Given the description of an element on the screen output the (x, y) to click on. 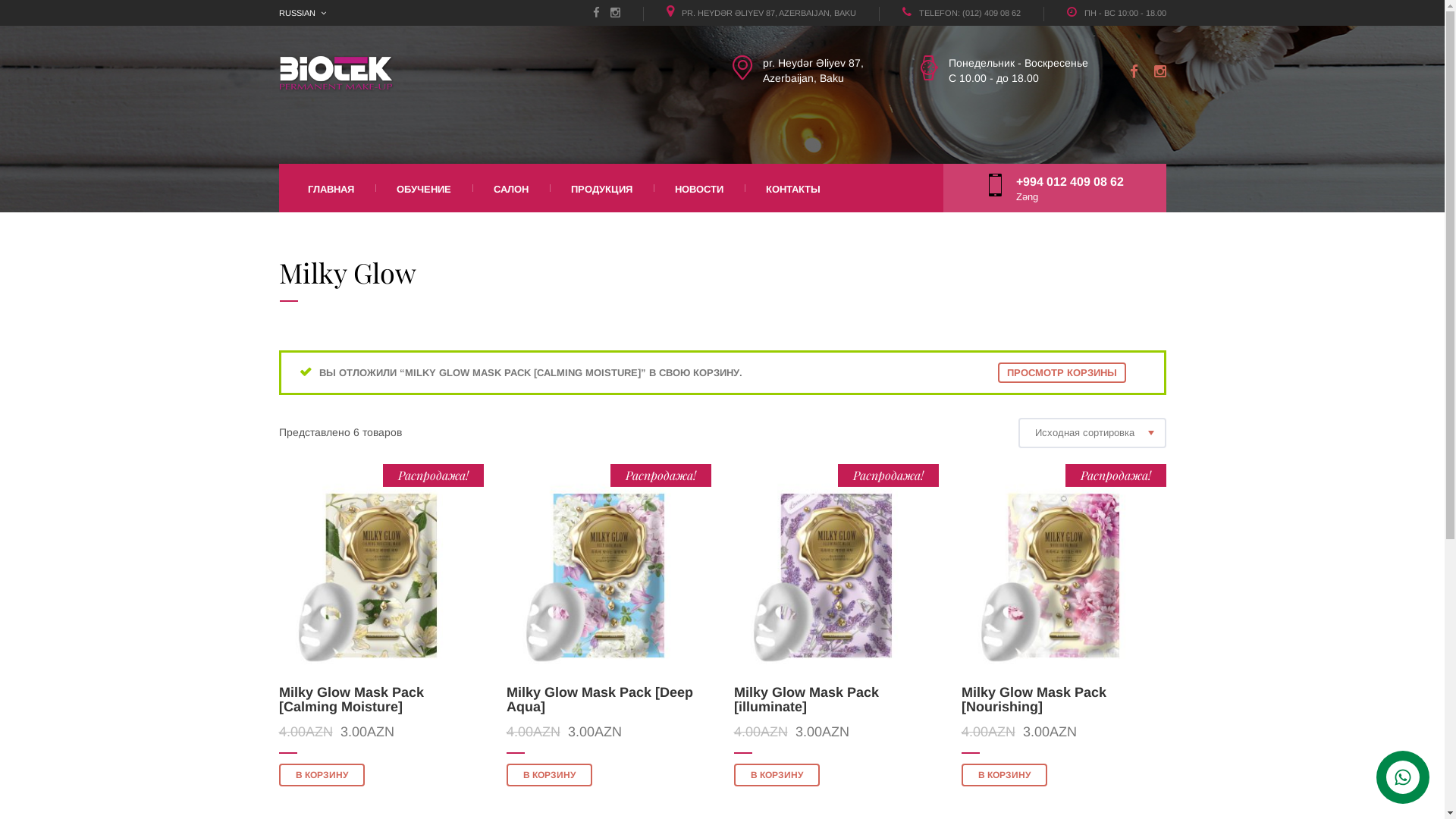
Milky Glow Mask Pack [illuminate] Element type: text (806, 699)
Milky Glow Mask Pack [Deep Aqua] Element type: text (599, 699)
Milky Glow Mask Pack [Nourishing] Element type: text (1033, 699)
Milky Glow Mask Pack [Calming Moisture] Element type: text (351, 699)
